Given the description of an element on the screen output the (x, y) to click on. 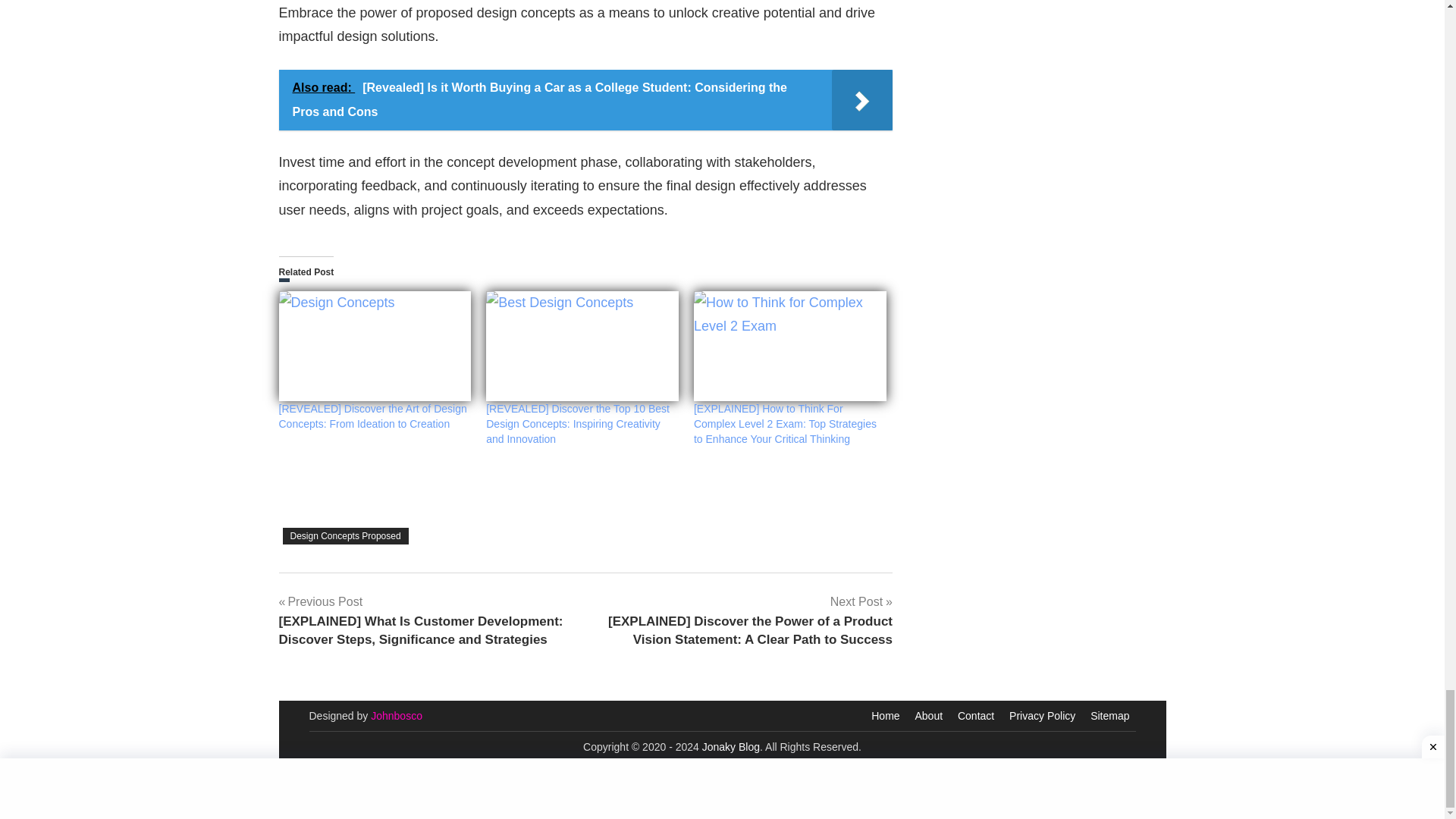
Jonaky Blog (730, 746)
Admin (396, 715)
